Given the description of an element on the screen output the (x, y) to click on. 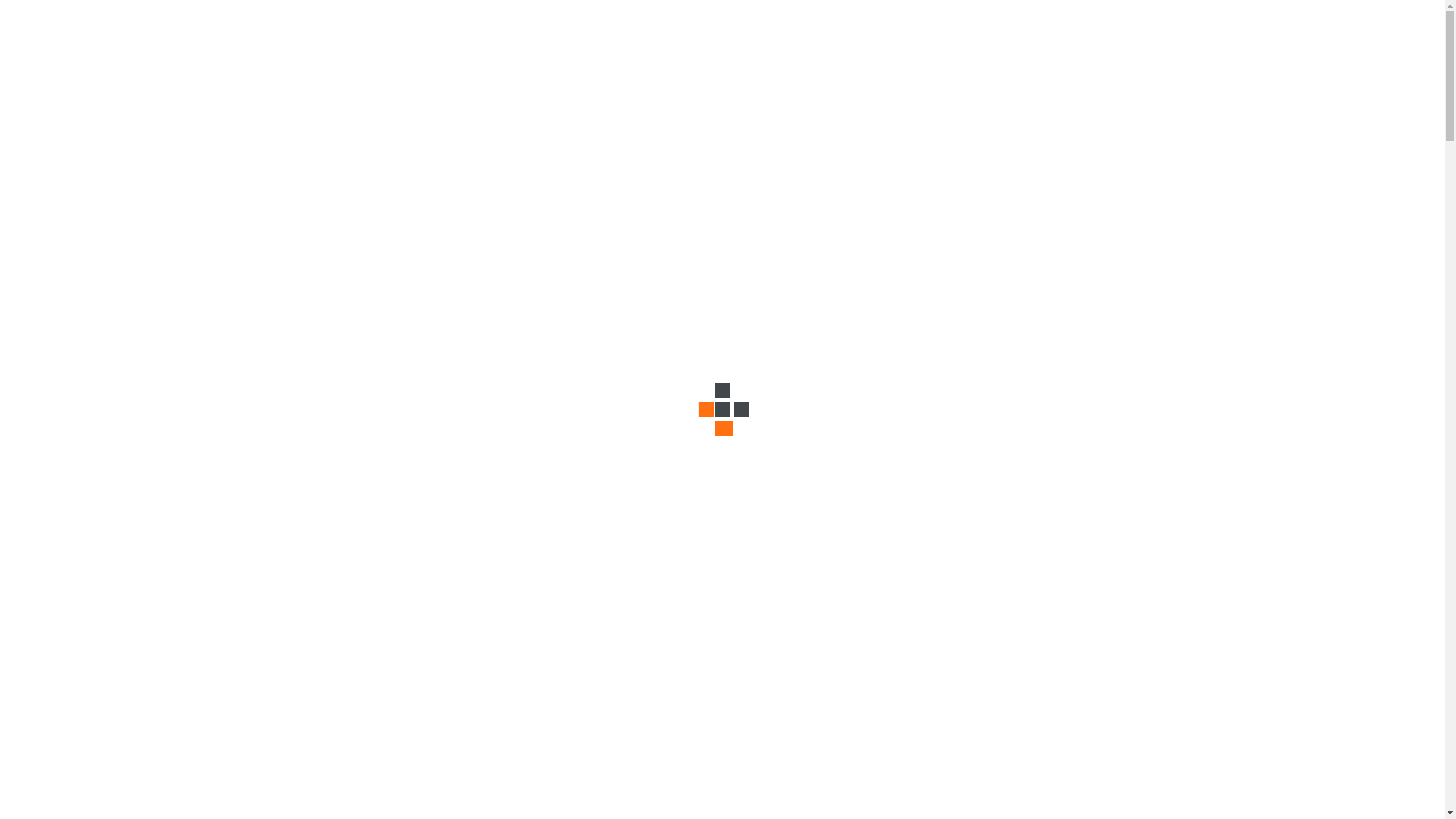
HOME Element type: text (47, 97)
CONTACT Element type: text (399, 97)
REGISTER NOW Element type: text (79, 652)
NEIGHBOURHOOD Element type: text (184, 97)
FEATURES Element type: text (329, 97)
REGISTER NOW Element type: text (67, 58)
PRIVACY Element type: text (467, 97)
ABOUT Element type: text (100, 97)
PLANS Element type: text (267, 97)
